Given the description of an element on the screen output the (x, y) to click on. 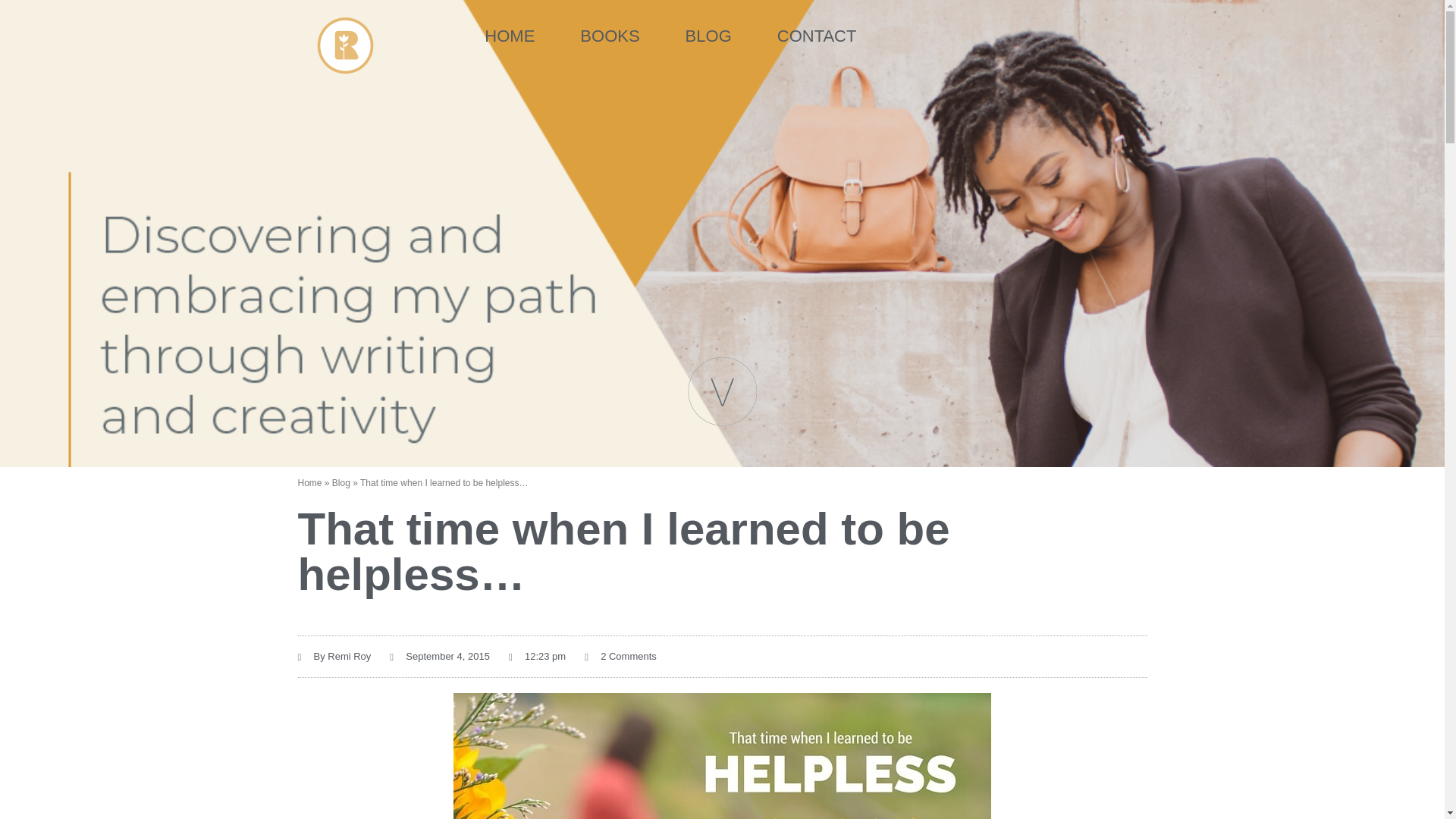
By Remi Roy (334, 656)
BOOKS (609, 36)
logo (344, 45)
BLOG (708, 36)
Home (309, 482)
Blog (340, 482)
CONTACT (816, 36)
September 4, 2015 (439, 656)
HOME (509, 36)
2 Comments (620, 656)
